Given the description of an element on the screen output the (x, y) to click on. 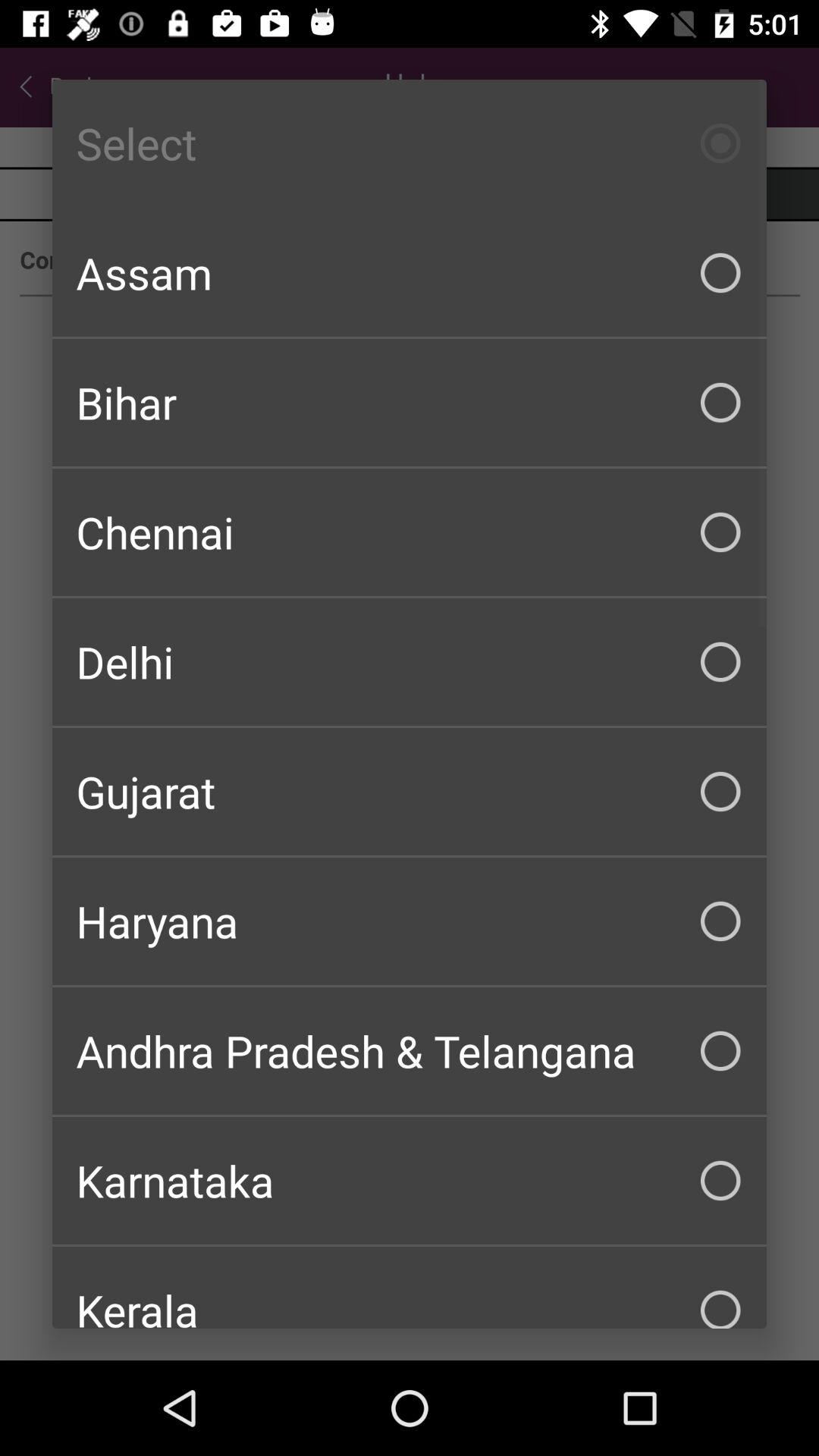
choose the select icon (409, 143)
